Given the description of an element on the screen output the (x, y) to click on. 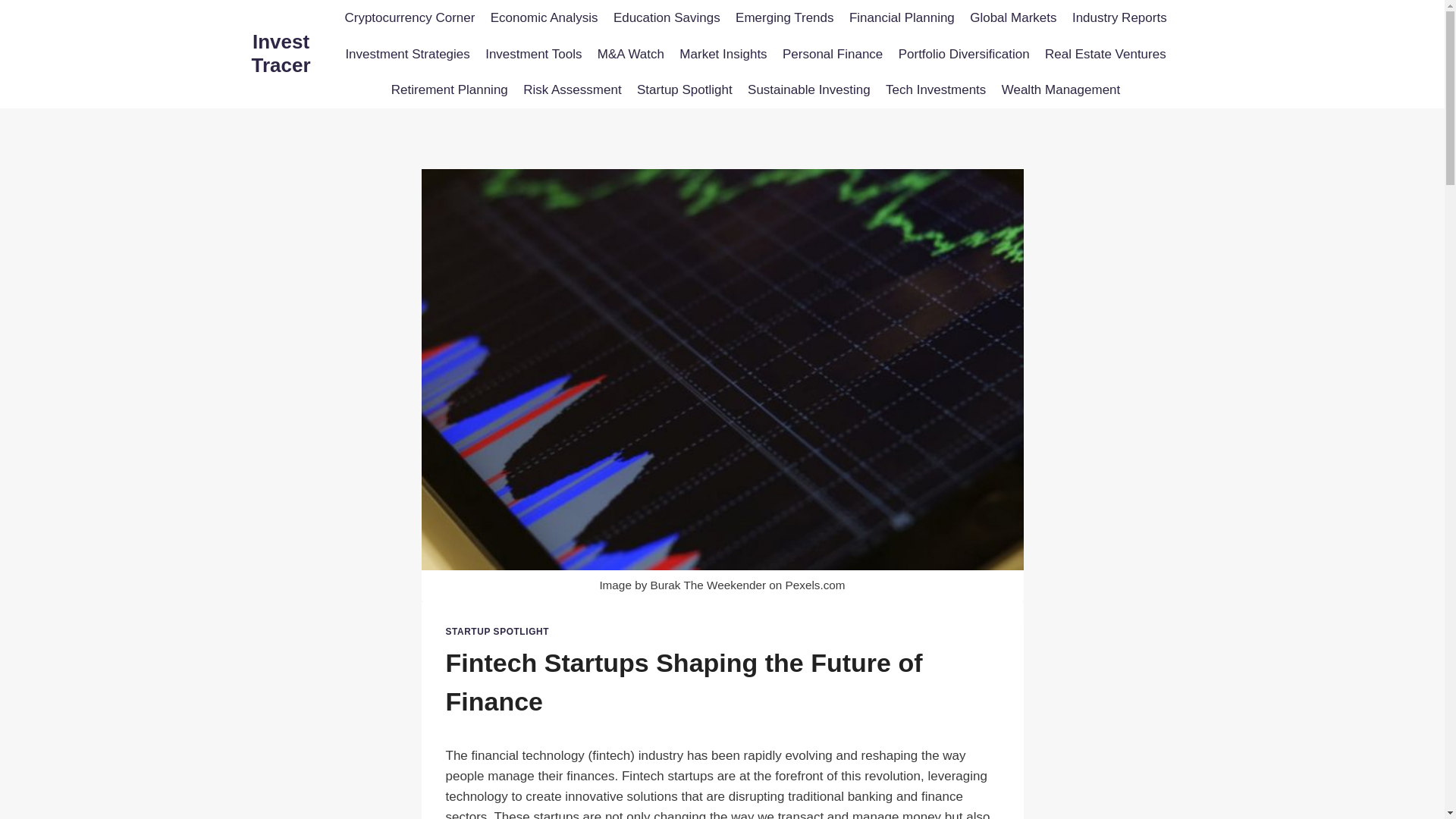
Global Markets (1013, 18)
Real Estate Ventures (1104, 54)
Portfolio Diversification (962, 54)
Retirement Planning (449, 90)
Tech Investments (935, 90)
Sustainable Investing (808, 90)
Financial Planning (901, 18)
Market Insights (722, 54)
Economic Analysis (544, 18)
Startup Spotlight (683, 90)
